Given the description of an element on the screen output the (x, y) to click on. 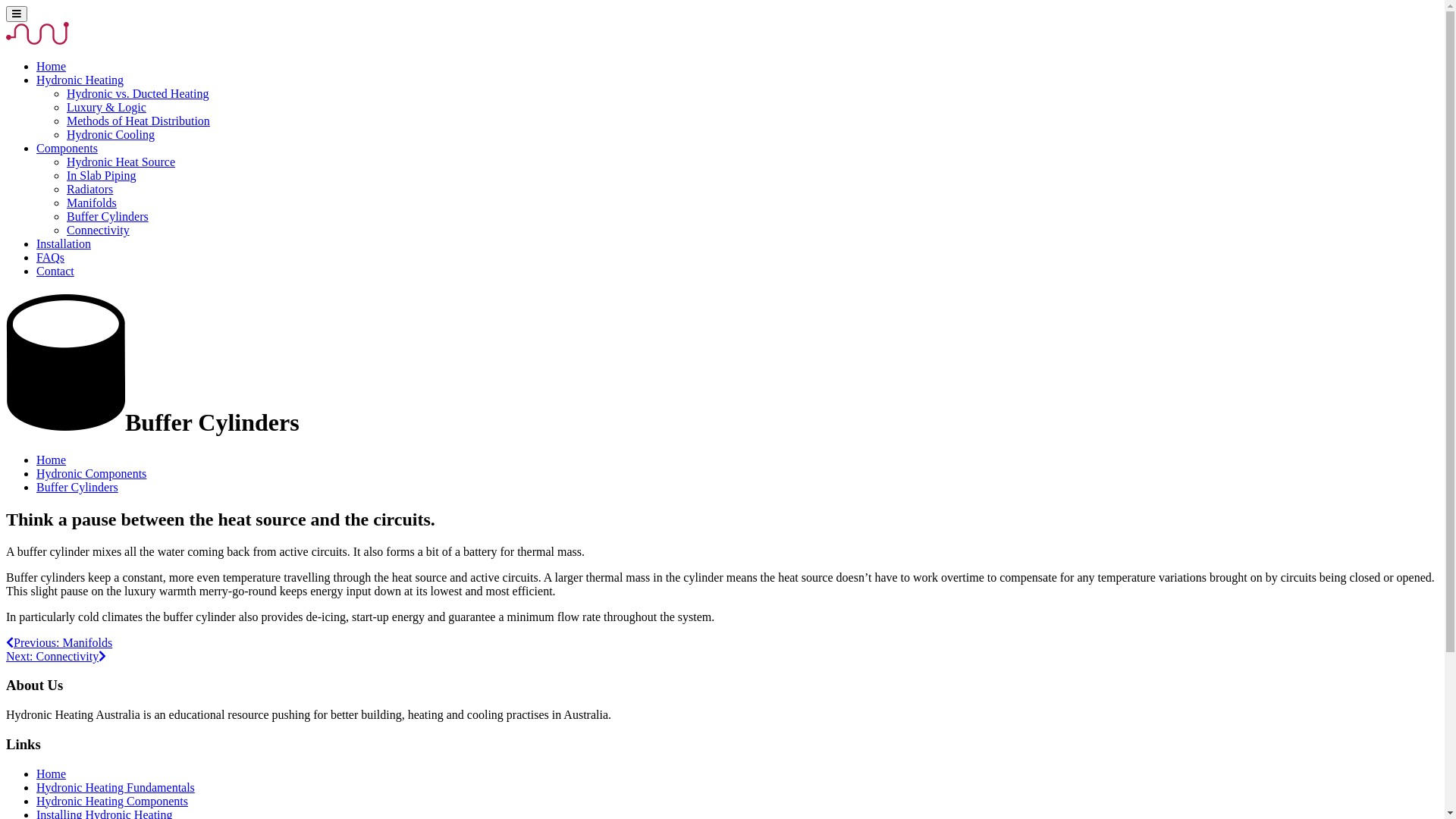
Home Element type: text (50, 65)
Methods of Heat Distribution Element type: text (138, 120)
In Slab Piping Element type: text (101, 175)
Hydronic vs. Ducted Heating Element type: text (137, 93)
Connectivity Element type: text (97, 229)
Radiators Element type: text (89, 188)
Hydronic Components Element type: text (91, 473)
Previous: Manifolds Element type: text (59, 642)
Hydronic Heat Source Element type: text (120, 161)
Home Element type: text (50, 459)
Hydronic Heating Fundamentals Element type: text (115, 787)
Manifolds Element type: text (91, 202)
Installation Element type: text (63, 243)
Home Element type: text (50, 773)
Components Element type: text (66, 147)
Hydronic Cooling Element type: text (110, 134)
Hydronic Heating Components Element type: text (112, 800)
Buffer Cylinders Element type: text (107, 216)
Buffer Cylinders Element type: text (77, 486)
Luxury & Logic Element type: text (106, 106)
FAQs Element type: text (50, 257)
Next: Connectivity Element type: text (56, 655)
Contact Element type: text (55, 270)
Hydronic Heating Element type: text (79, 79)
